Given the description of an element on the screen output the (x, y) to click on. 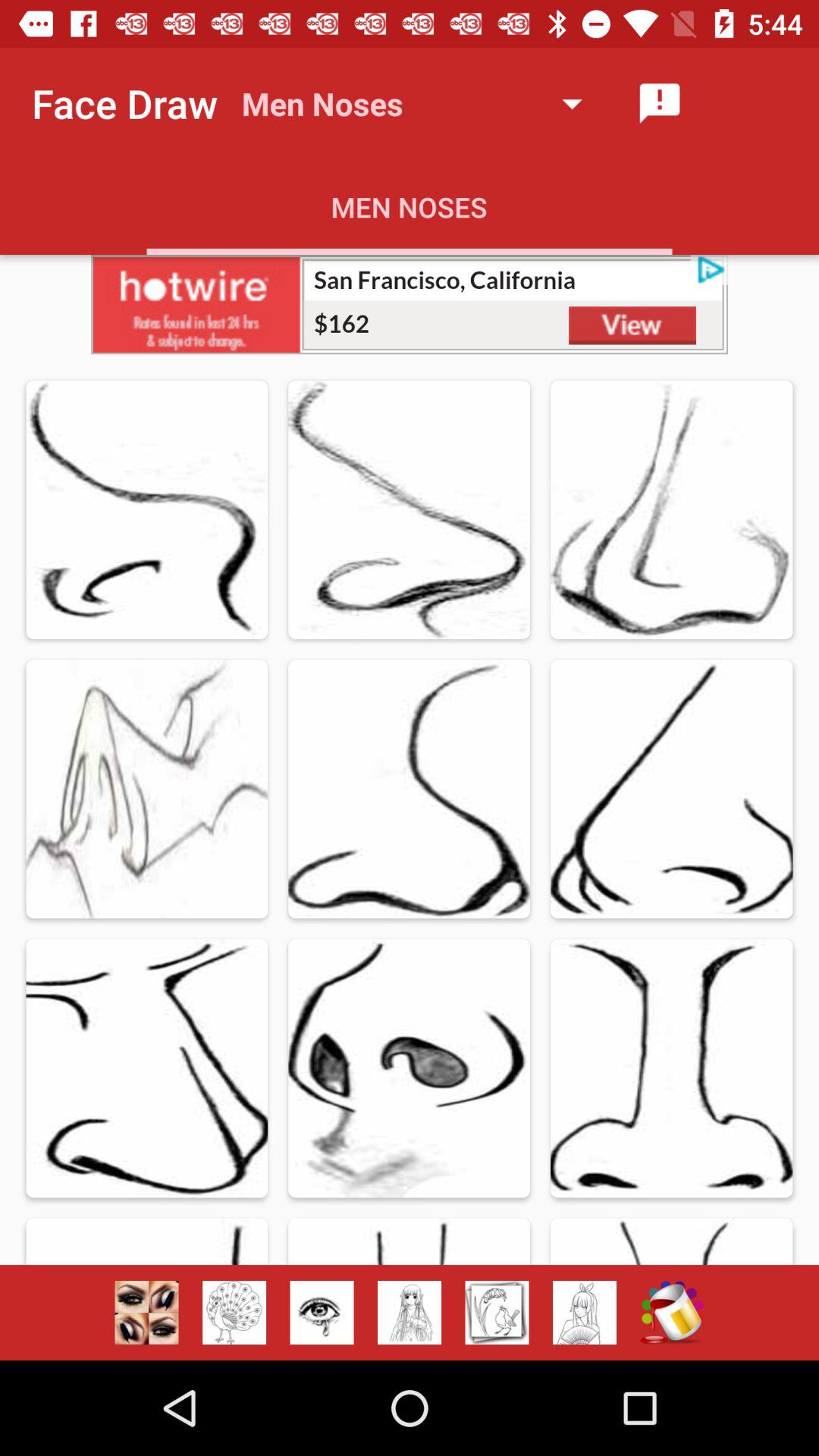
view drawing (496, 1312)
